Given the description of an element on the screen output the (x, y) to click on. 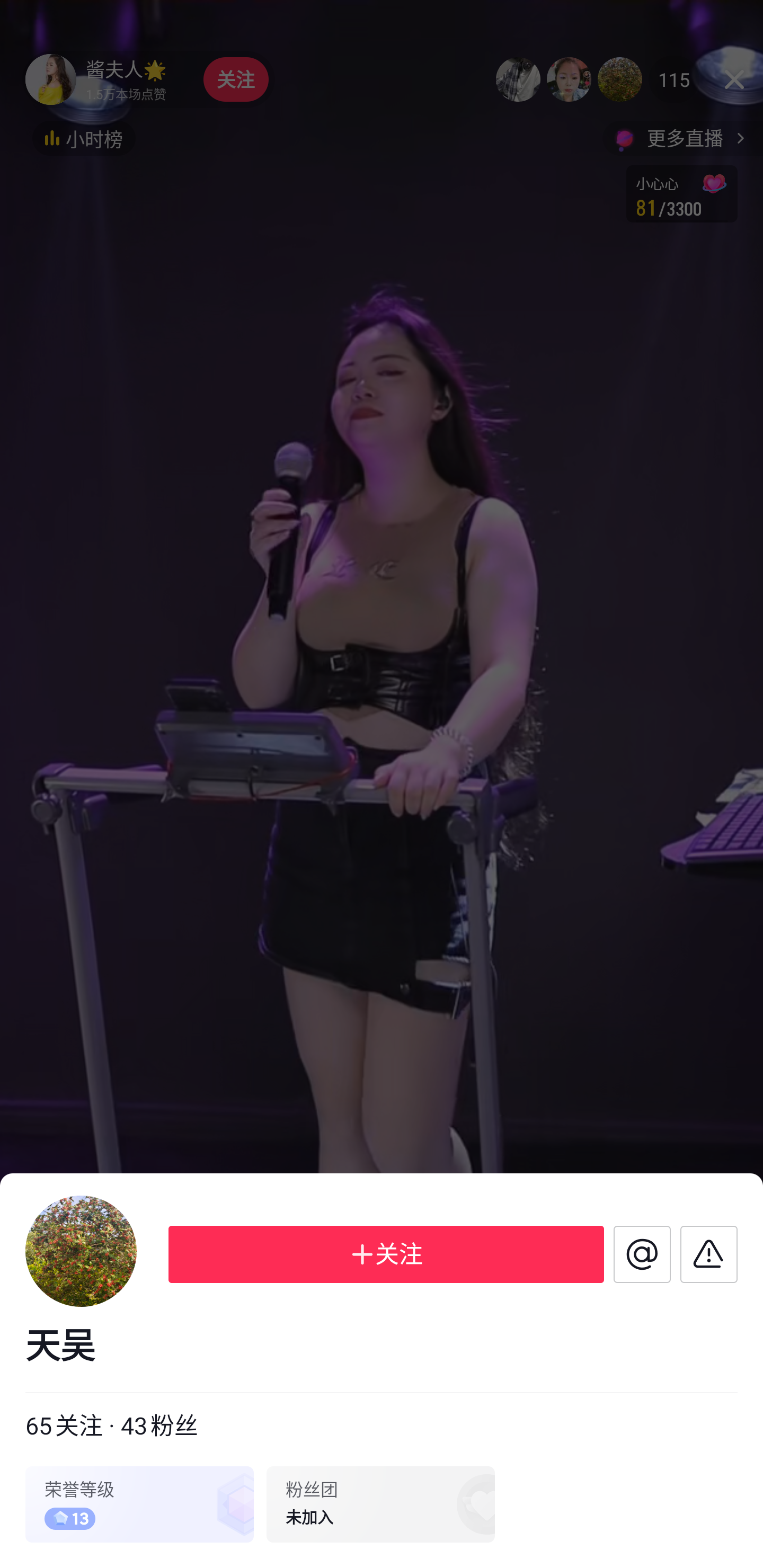
关注 按钮 关注 (386, 1254)
艾特 按钮 (641, 1254)
举报 按钮 (708, 1254)
天吴 (381, 1346)
65 关注 · 43 粉丝 (111, 1426)
荣誉等级 (139, 1504)
粉丝团 未加入 (380, 1504)
